Given the description of an element on the screen output the (x, y) to click on. 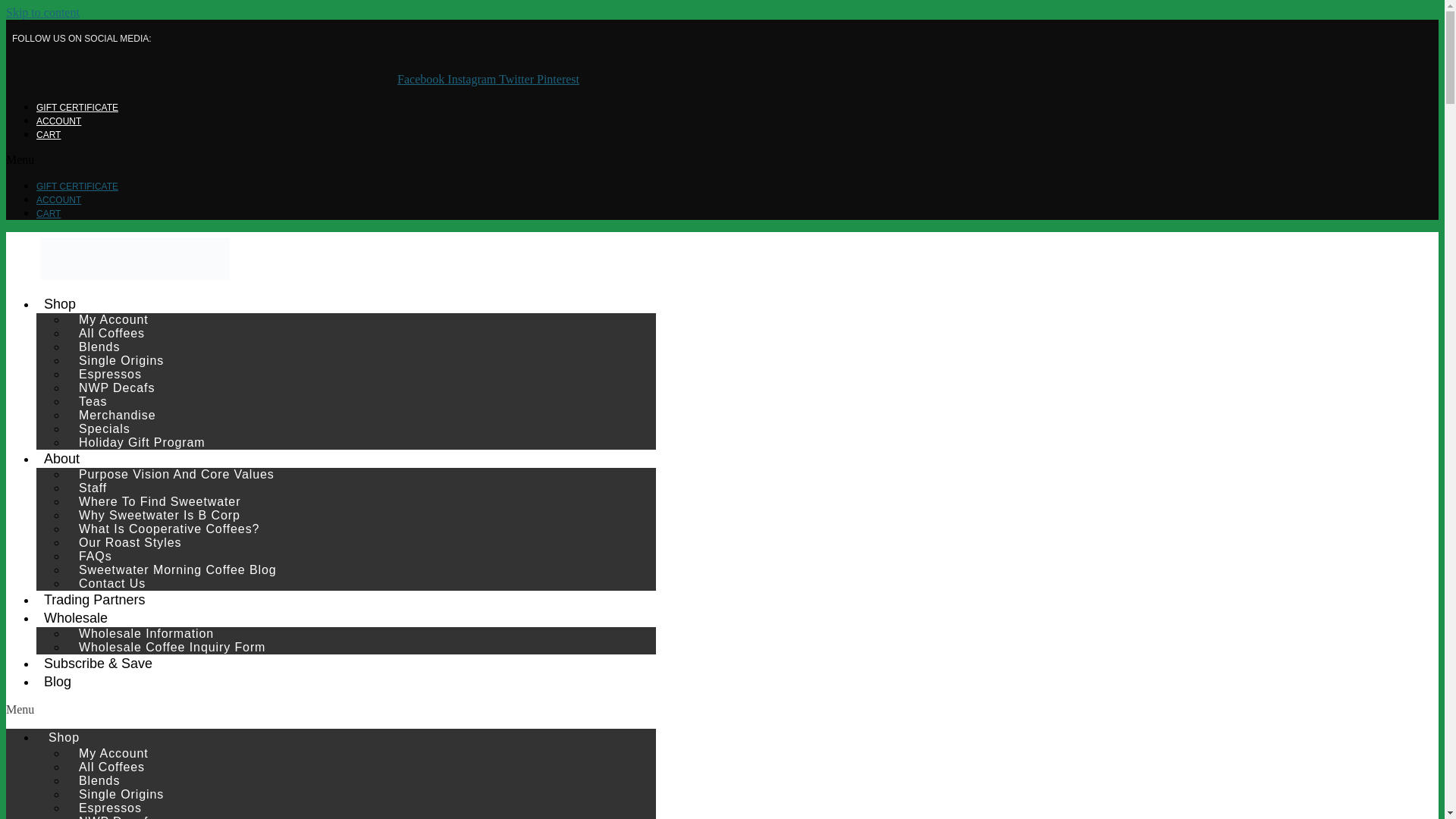
CART (48, 213)
Contact Us (111, 583)
CART (48, 134)
Single Origins (121, 360)
ACCOUNT (58, 121)
Trading Partners (94, 599)
Holiday Gift Program (141, 442)
NWP Decafs (116, 387)
My Account (113, 319)
Espressos (110, 373)
Shop (59, 303)
Staff (92, 487)
Facebook (421, 78)
Wholesale Information (145, 633)
Blog (57, 681)
